Given the description of an element on the screen output the (x, y) to click on. 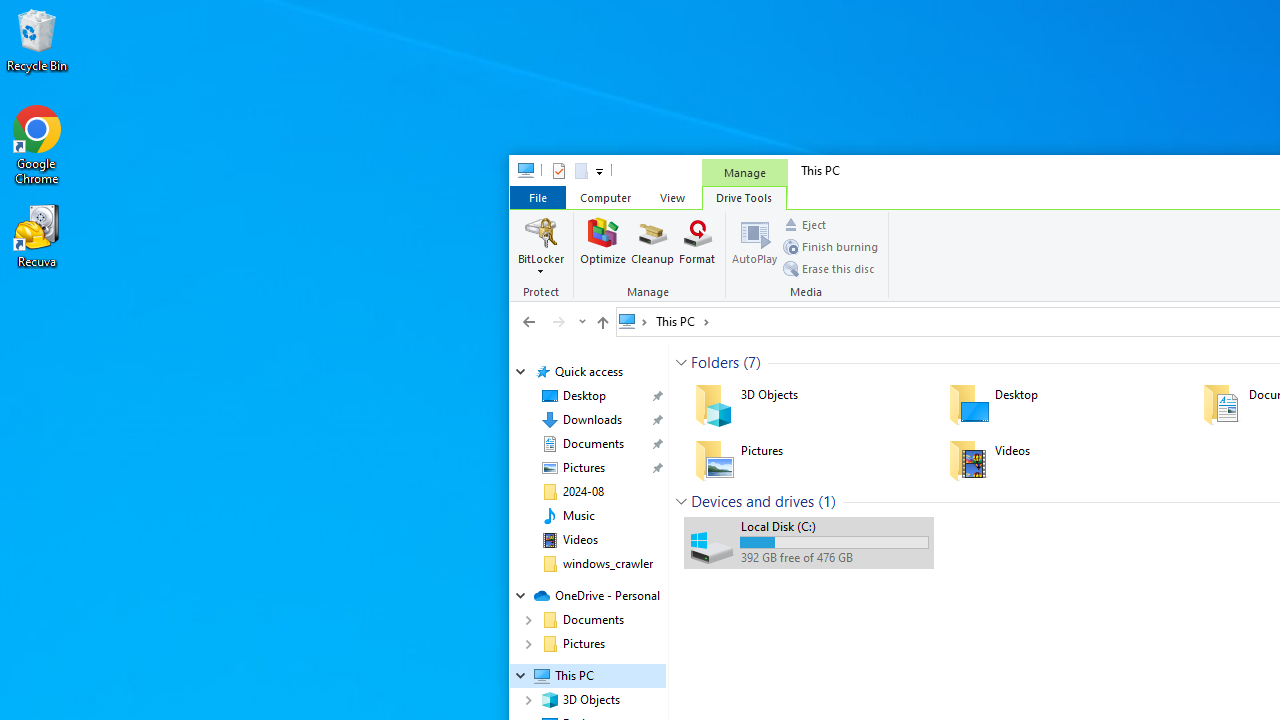
Name (834, 526)
Music (578, 515)
Space used (834, 542)
Up band toolbar (602, 325)
Media (808, 255)
System (520, 173)
BitLocker (541, 246)
Computer (605, 196)
New folder (580, 169)
Eject (804, 224)
Videos (1062, 460)
Back to Local Disk (C:) (Alt + Left Arrow) (529, 321)
Available space (834, 557)
Recent locations (580, 321)
Cleanup (652, 246)
